Given the description of an element on the screen output the (x, y) to click on. 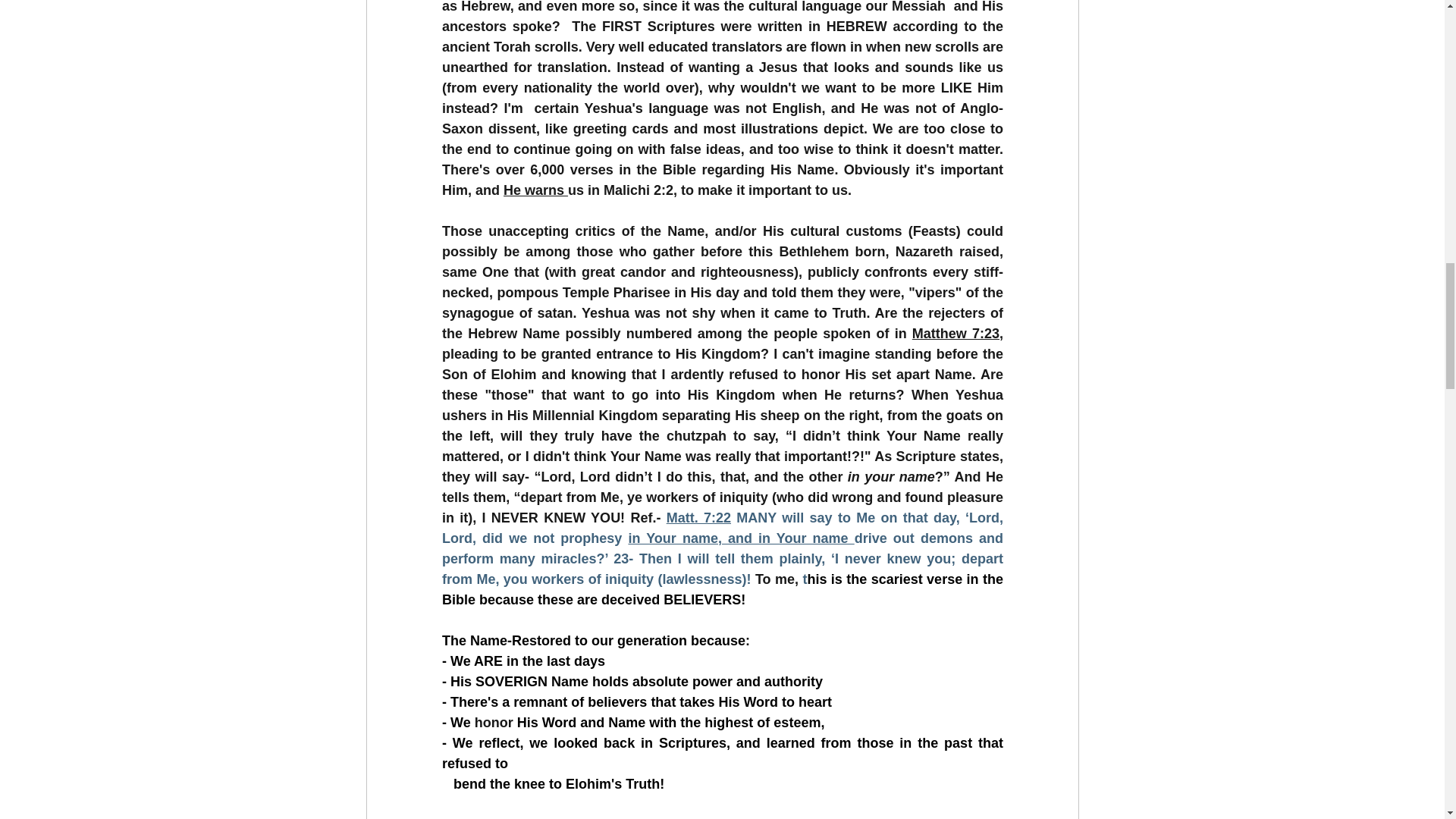
I will tell them plainly, (751, 558)
from (456, 579)
Me, (487, 579)
Then (655, 558)
workers (557, 579)
depart (981, 558)
you; (940, 558)
you (514, 579)
